Given the description of an element on the screen output the (x, y) to click on. 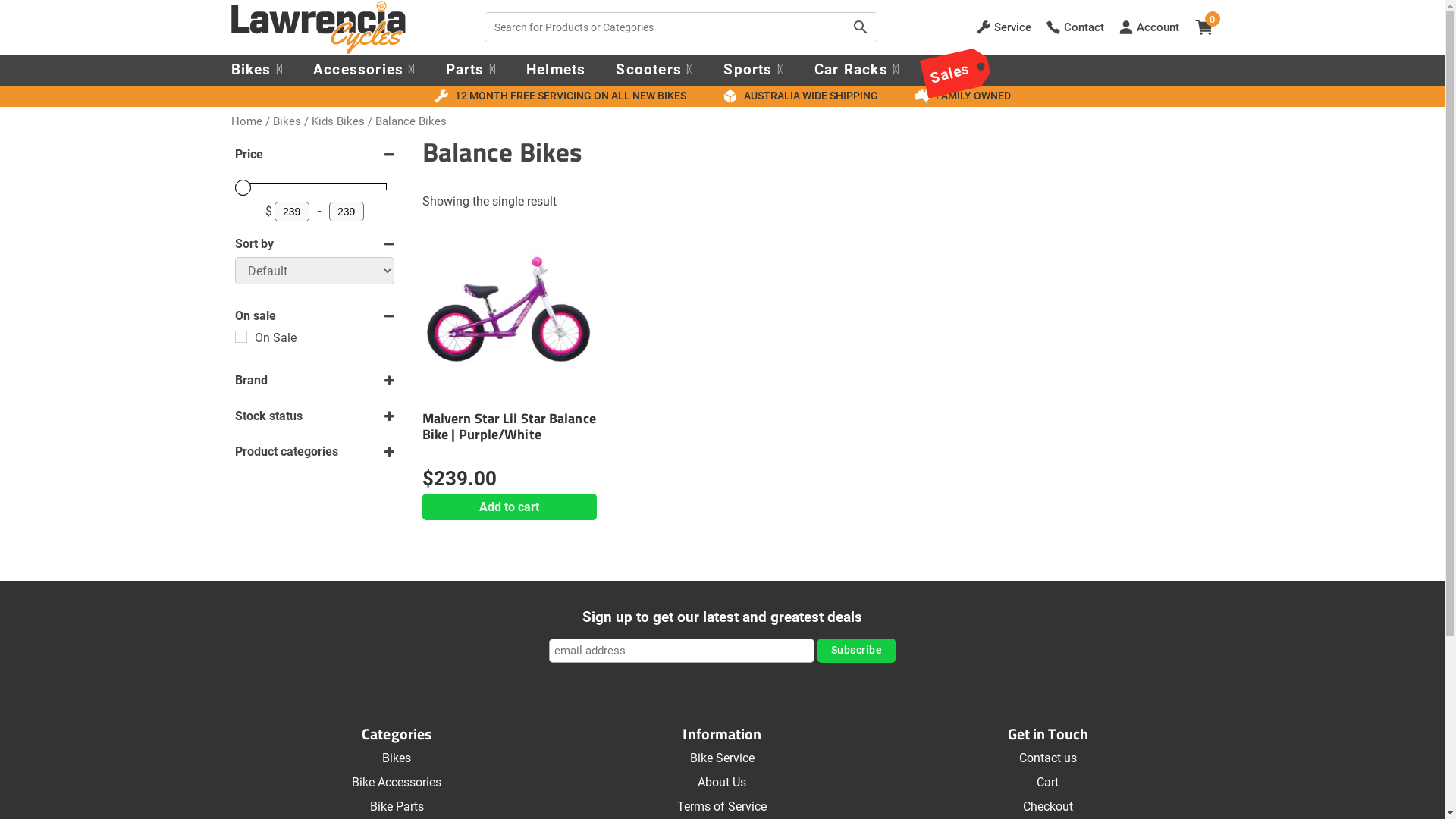
Add to cart Element type: text (509, 506)
Contact Element type: text (1074, 27)
Parts Element type: text (485, 69)
Checkout Element type: text (1047, 806)
Bikes Element type: text (271, 69)
Malvern Star Lil Star Balance Bike | Purple/White
$239.00 Element type: text (509, 357)
Scooters Element type: text (669, 69)
Bike Parts Element type: text (396, 806)
Kids Bikes Element type: text (337, 121)
Home Element type: text (245, 121)
Sales Element type: text (961, 61)
Car Racks Element type: text (871, 69)
Bike Accessories Element type: text (396, 782)
Account Element type: text (1148, 27)
About Us Element type: text (721, 782)
Cart Element type: text (1047, 782)
Terms of Service Element type: text (721, 806)
Service Element type: text (1003, 27)
Bikes Element type: text (396, 757)
Contact us Element type: text (1047, 757)
Helmets Element type: text (570, 69)
Bike Service Element type: text (722, 757)
Accessories Element type: text (379, 69)
Bikes Element type: text (287, 121)
Subscribe Element type: text (856, 650)
Sports Element type: text (768, 69)
